Given the description of an element on the screen output the (x, y) to click on. 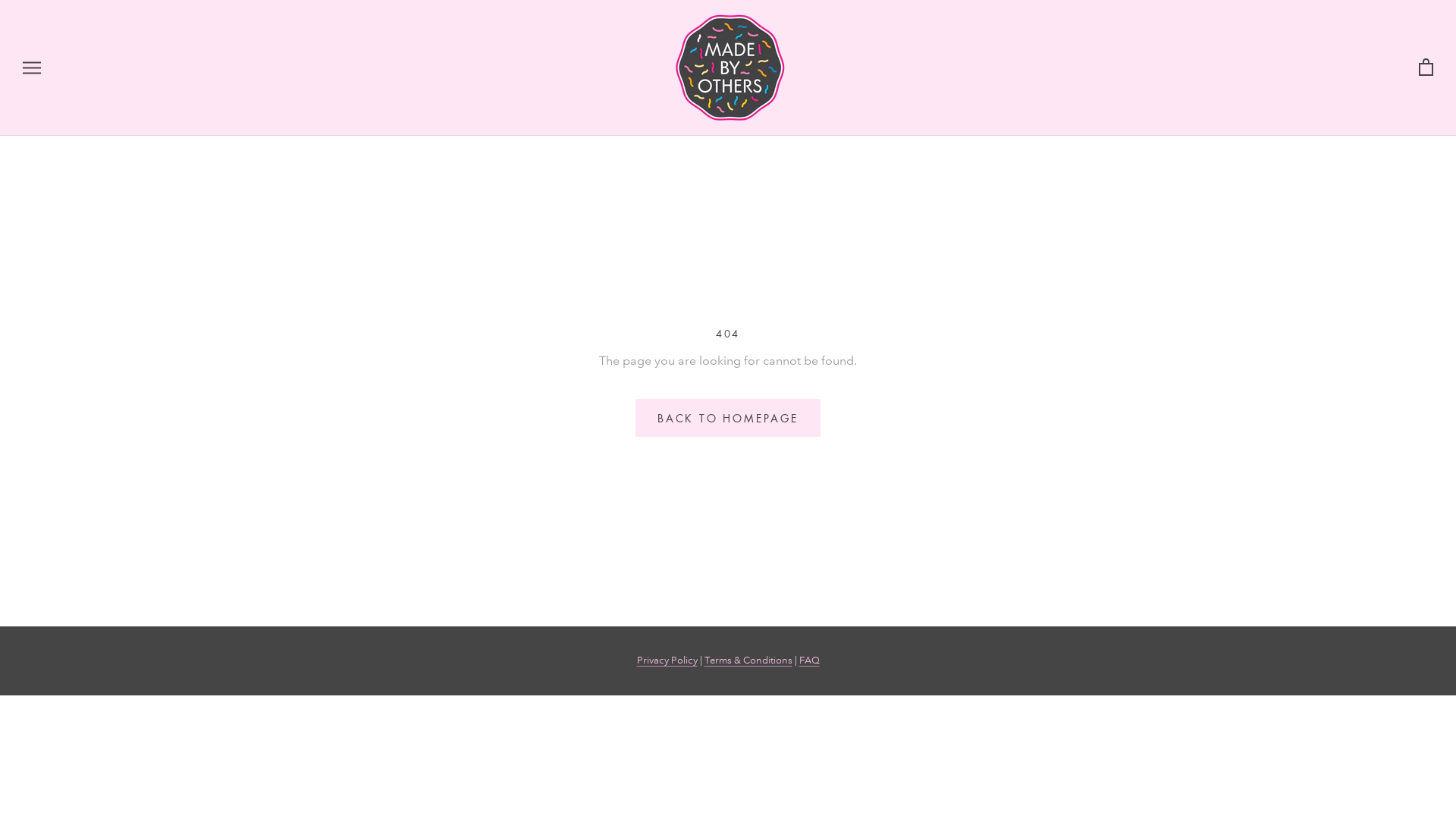
Privacy Policy Element type: text (667, 660)
Terms & Conditions Element type: text (747, 660)
BACK TO HOMEPAGE Element type: text (727, 417)
FAQ Element type: text (809, 660)
